Given the description of an element on the screen output the (x, y) to click on. 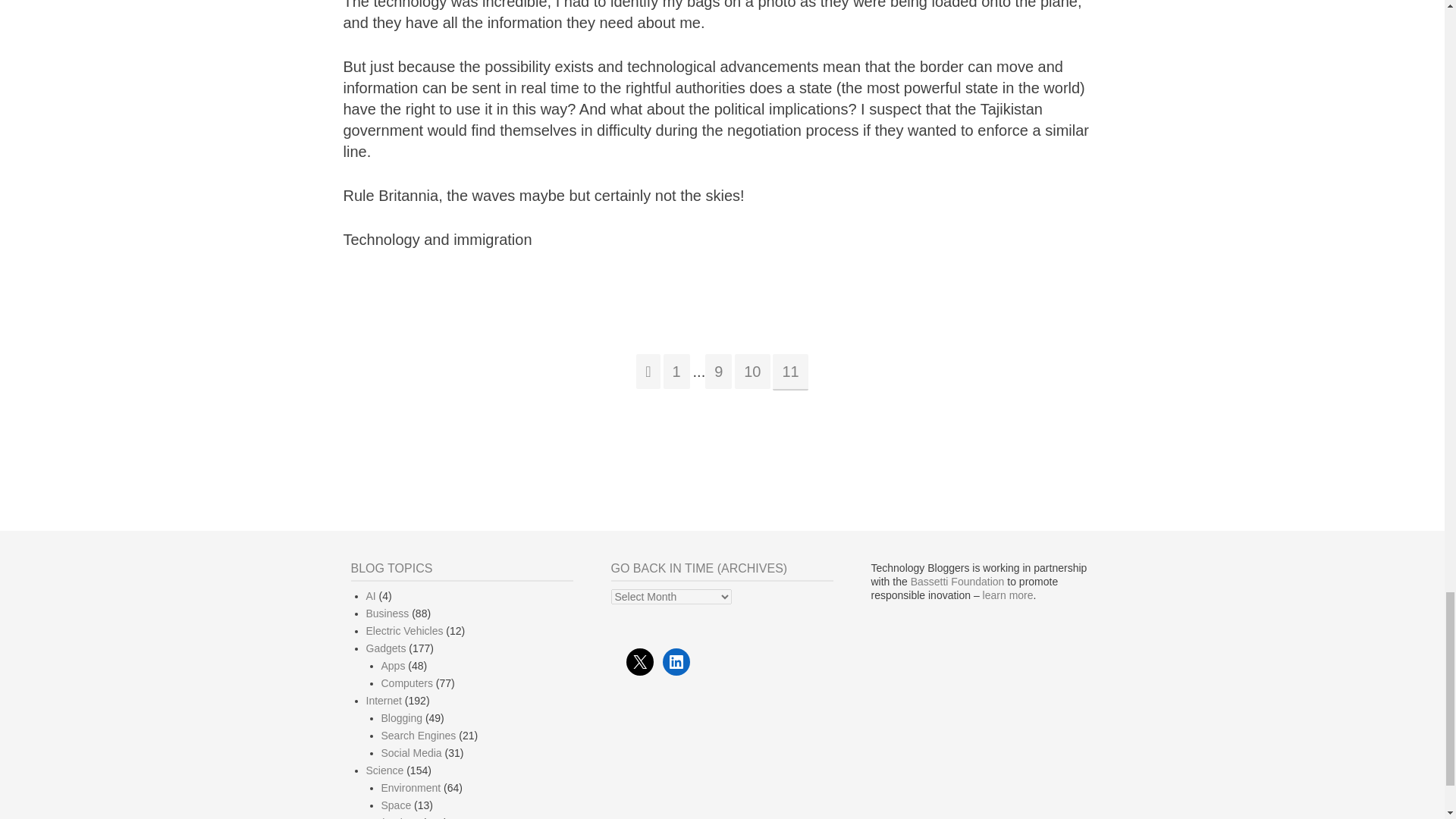
Blogging (401, 717)
Environment (410, 787)
11 (790, 371)
10 (752, 371)
Internet (383, 700)
Apps (392, 665)
Bassetti Foundation (957, 581)
Electric Vehicles (403, 630)
Technology (392, 817)
learn more (1007, 594)
Science (384, 770)
Business (387, 613)
Search Engines (417, 735)
Social Media (410, 752)
Computers (406, 683)
